Given the description of an element on the screen output the (x, y) to click on. 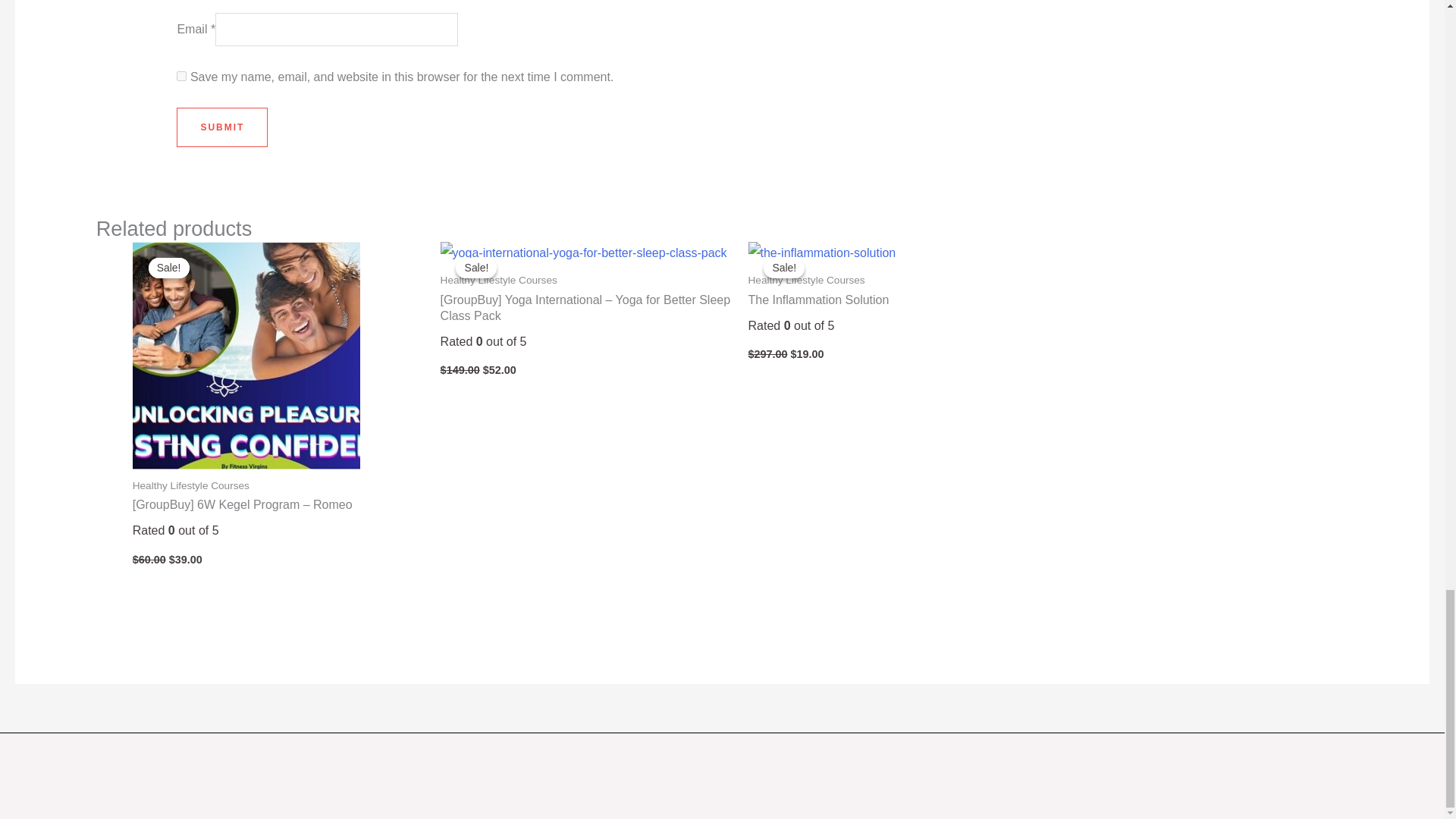
Submit (221, 127)
Submit (221, 127)
The Inflammation Solution (894, 300)
yes (181, 76)
